Given the description of an element on the screen output the (x, y) to click on. 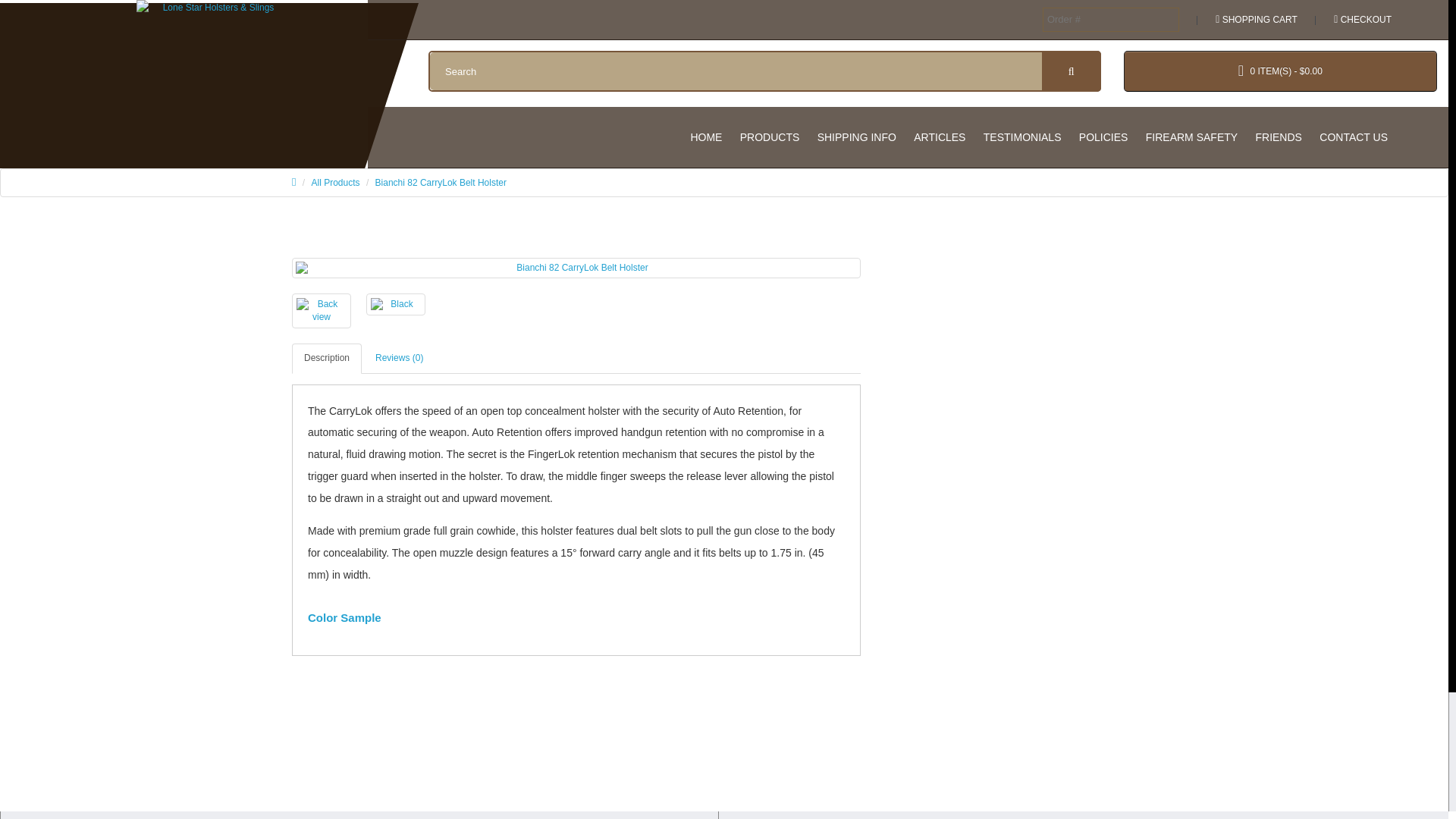
POLICIES (1103, 136)
PRODUCTS (770, 136)
Black (395, 304)
CONTACT US (1352, 136)
FIREARM SAFETY (1191, 136)
Color Sample (344, 617)
ARTICLES (938, 136)
TESTIMONIALS (1021, 136)
SHIPPING INFO (856, 136)
Shopping Cart (1252, 19)
Description (326, 358)
Bianchi 82 CarryLok Belt Holster (440, 182)
Checkout (1358, 19)
CHECKOUT (1358, 19)
Back view (321, 310)
